Given the description of an element on the screen output the (x, y) to click on. 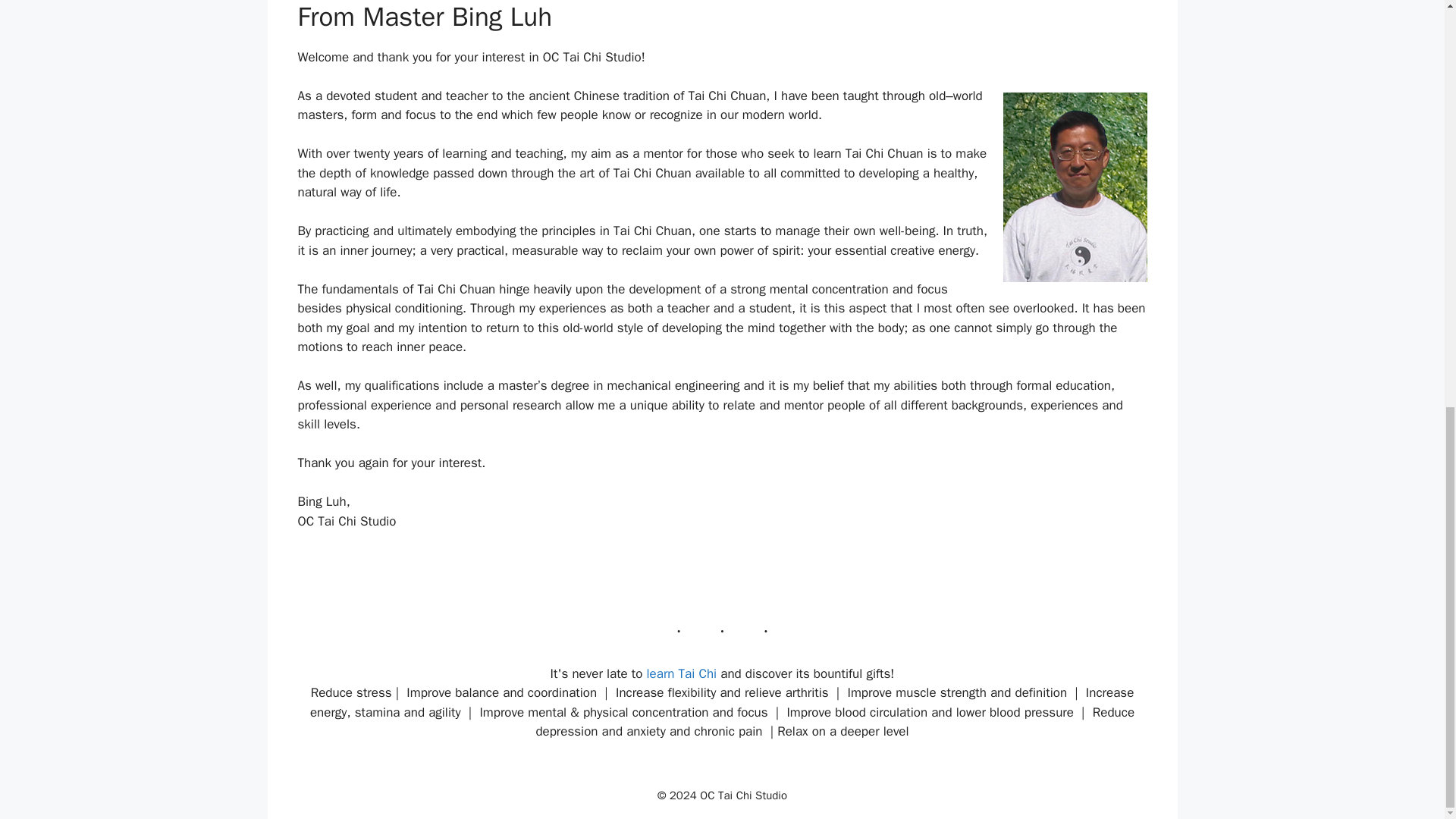
learn Tai Chi (681, 673)
